Given the description of an element on the screen output the (x, y) to click on. 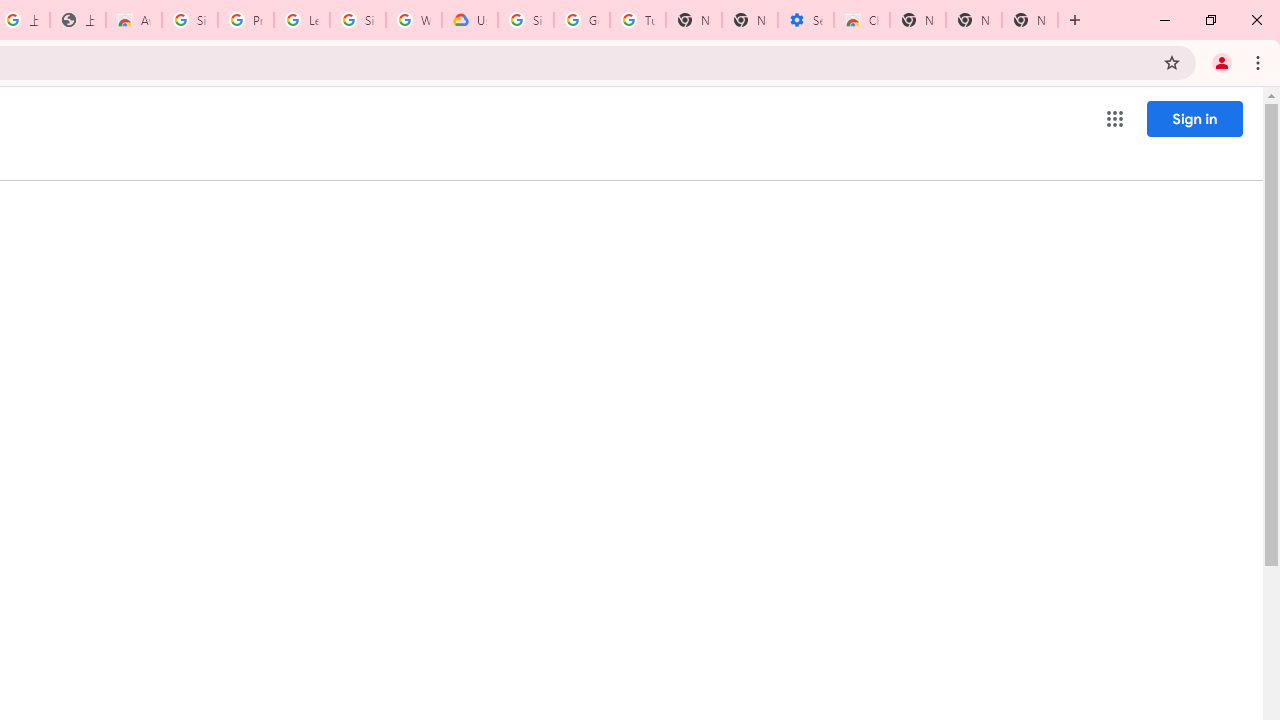
Settings - Accessibility (806, 20)
Turn cookies on or off - Computer - Google Account Help (637, 20)
Who are Google's partners? - Privacy and conditions - Google (413, 20)
Sign in - Google Accounts (525, 20)
Sign in - Google Accounts (358, 20)
New Tab (917, 20)
Chrome Web Store - Accessibility extensions (861, 20)
Sign in - Google Accounts (189, 20)
